Given the description of an element on the screen output the (x, y) to click on. 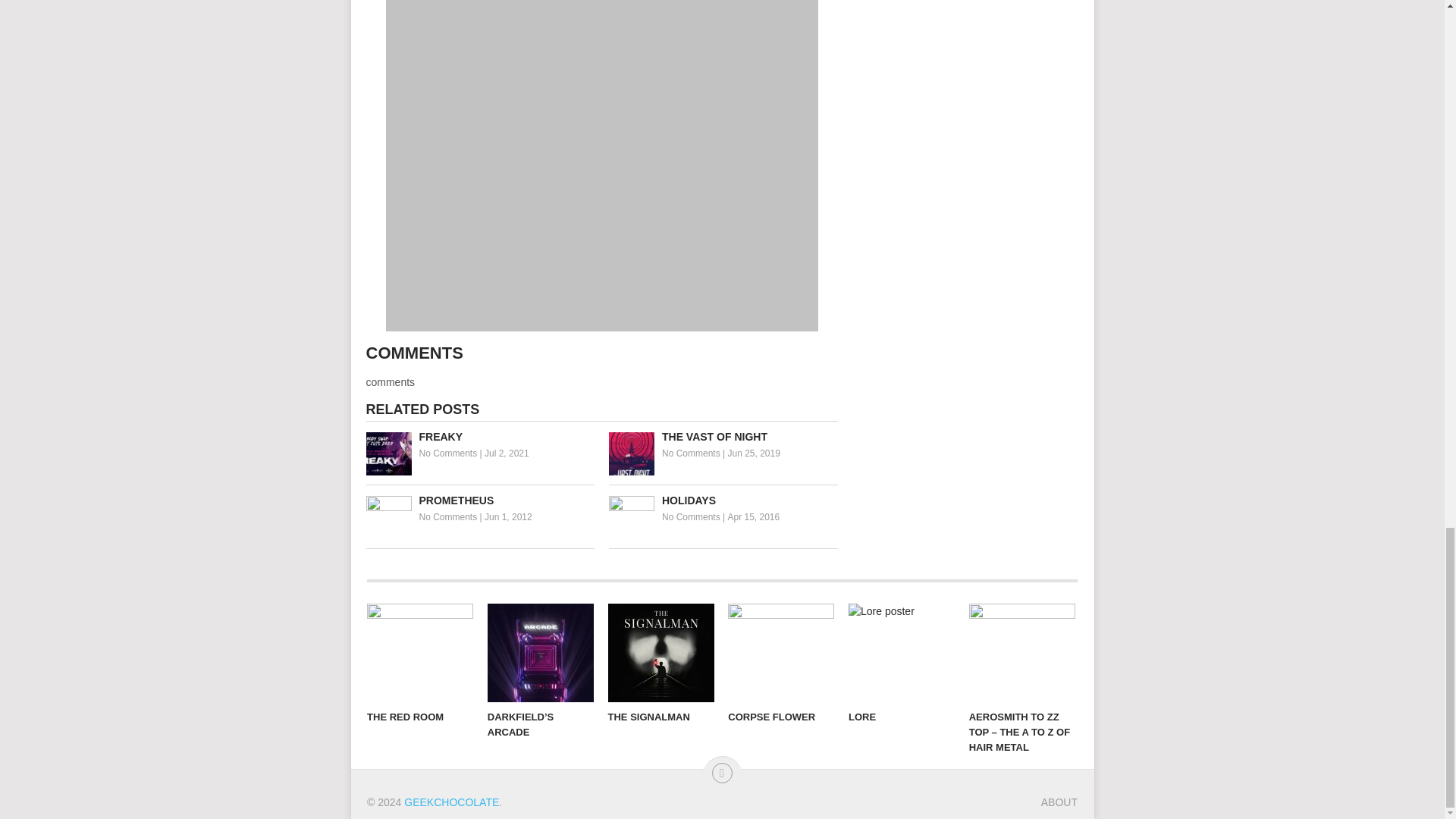
Holidays (723, 500)
FREAKY (479, 437)
No Comments (448, 452)
The Vast of Night (723, 437)
Prometheus (479, 500)
THE VAST OF NIGHT (723, 437)
Freaky (479, 437)
